Given the description of an element on the screen output the (x, y) to click on. 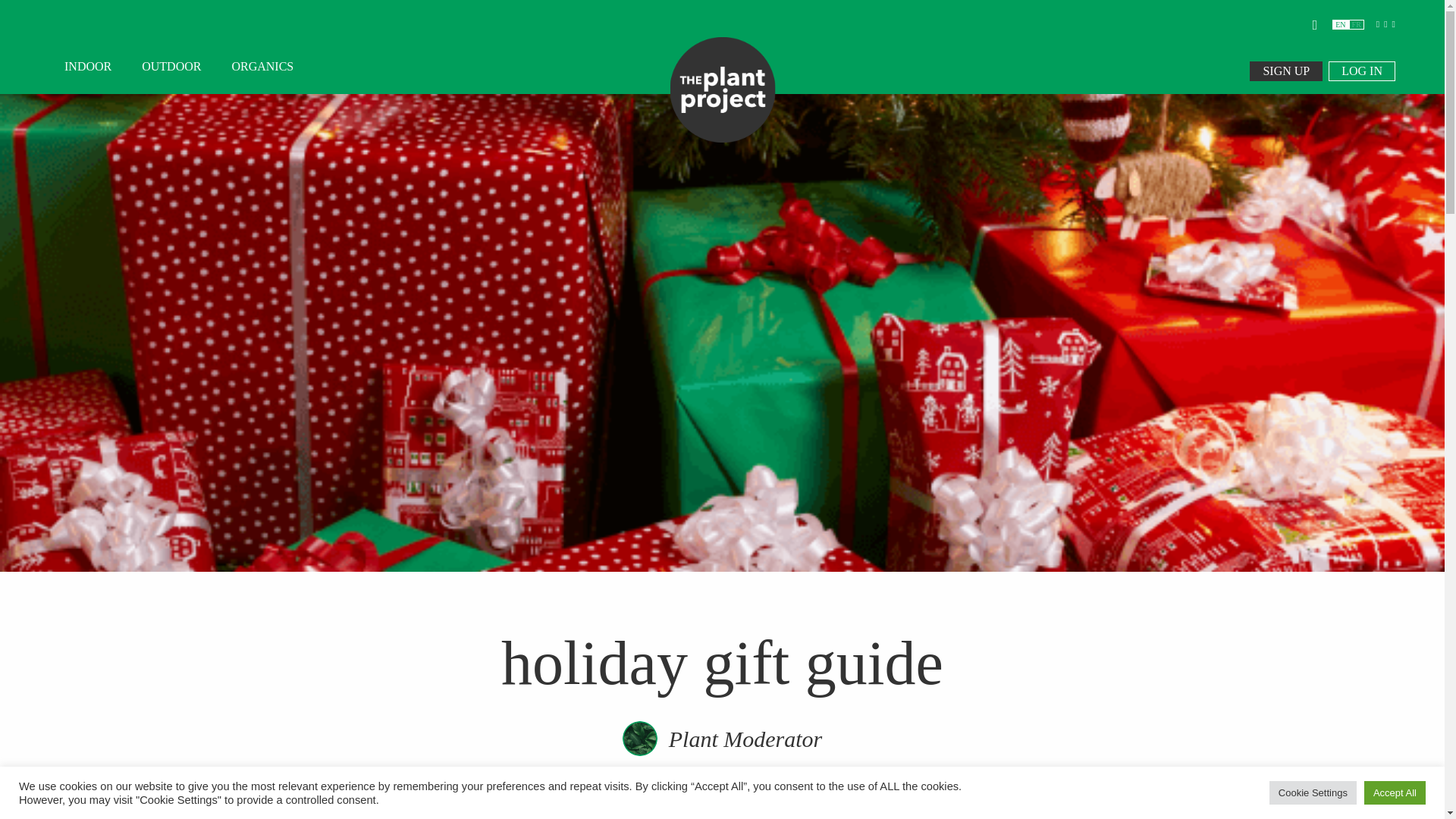
ORGANICS (254, 66)
SIGN UP (1285, 71)
EN (1340, 24)
FR (1356, 24)
LOG IN (1360, 71)
OUTDOOR (170, 66)
INDOOR (87, 66)
